Given the description of an element on the screen output the (x, y) to click on. 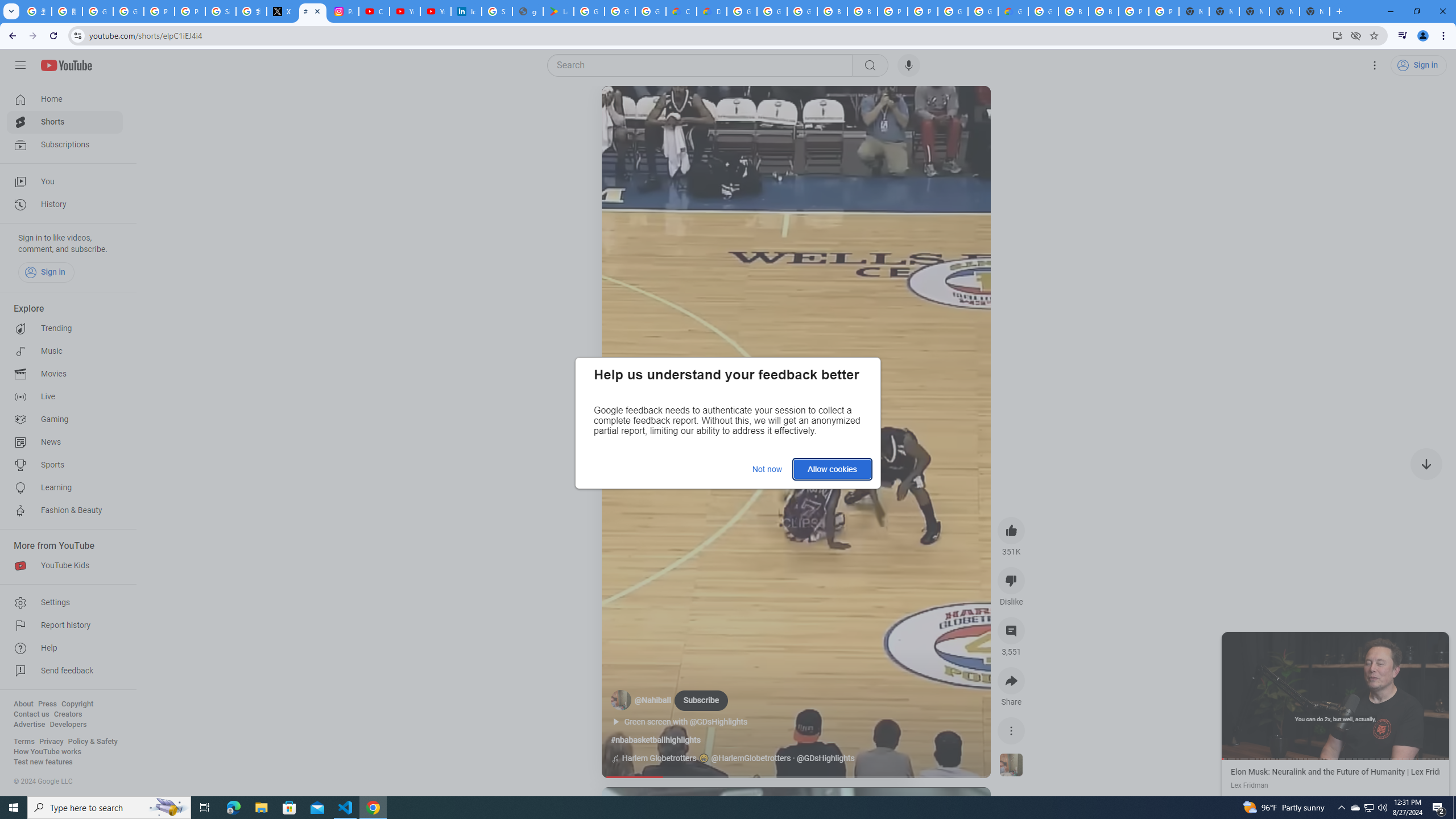
Google Cloud Platform (982, 11)
Google Cloud Platform (1042, 11)
Privacy Help Center - Policies Help (189, 11)
About (23, 703)
Sign in - Google Accounts (220, 11)
YouTube Culture & Trends - YouTube Top 10, 2021 (434, 11)
Fashion & Beauty (64, 510)
View 3,551 comments (1011, 630)
Report history (64, 625)
More actions (1011, 730)
Play (k) (623, 108)
Guide (20, 65)
